Given the description of an element on the screen output the (x, y) to click on. 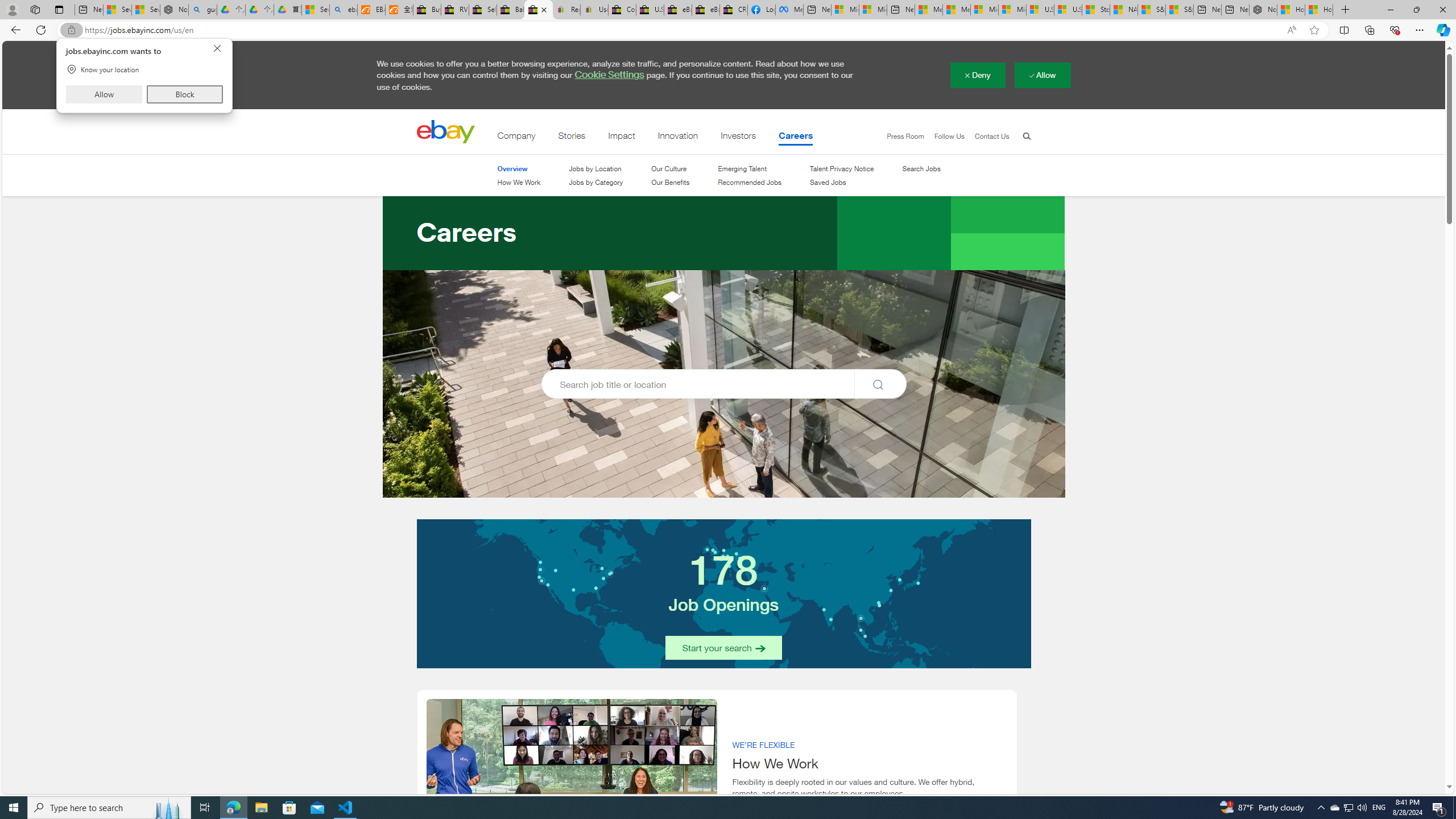
Emerging Talent (749, 168)
